Given the description of an element on the screen output the (x, y) to click on. 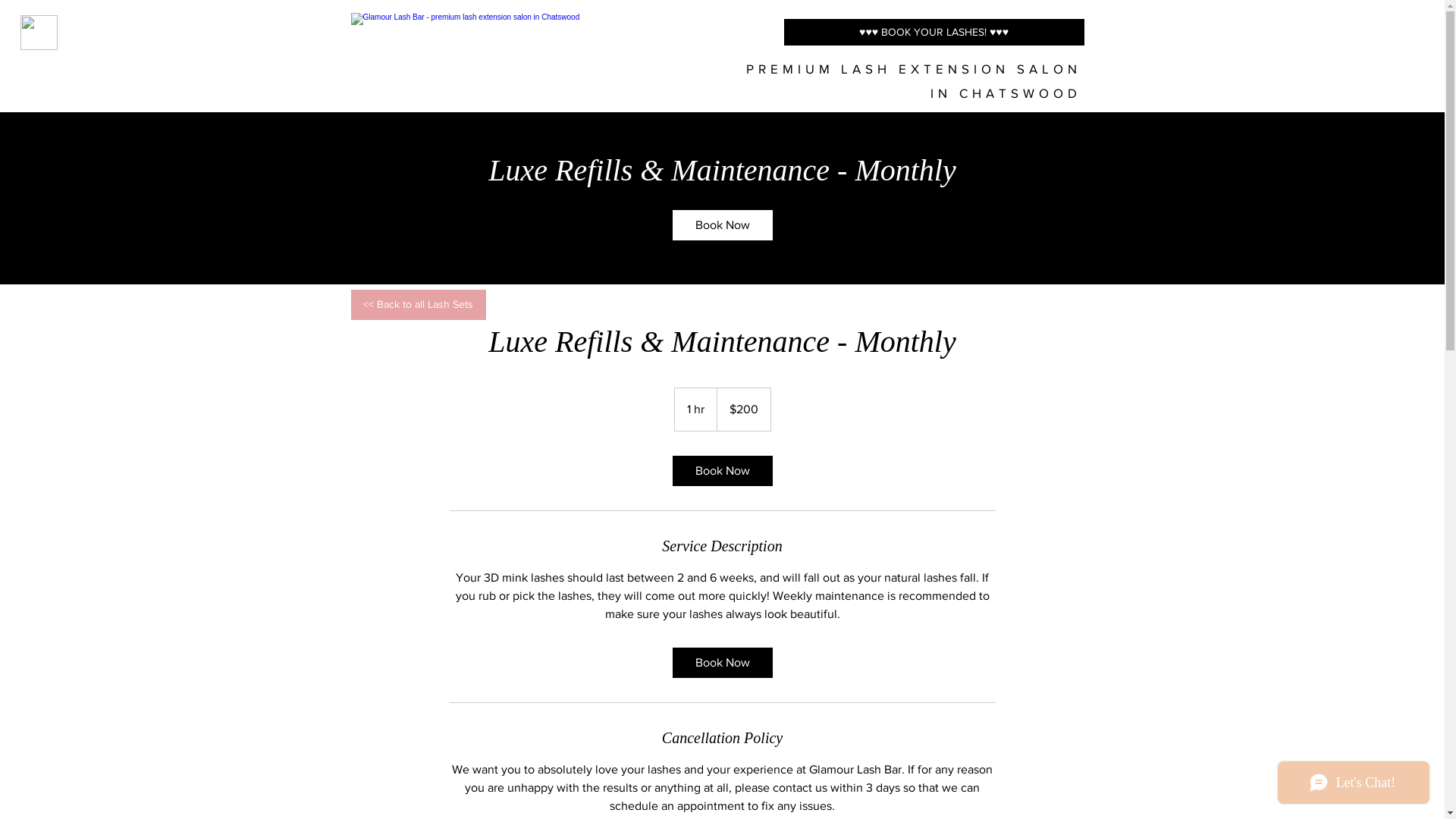
Book Now Element type: text (721, 662)
Book Now Element type: text (721, 470)
<< Back to all Lash Sets Element type: text (417, 304)
Book Now Element type: text (721, 225)
